Given the description of an element on the screen output the (x, y) to click on. 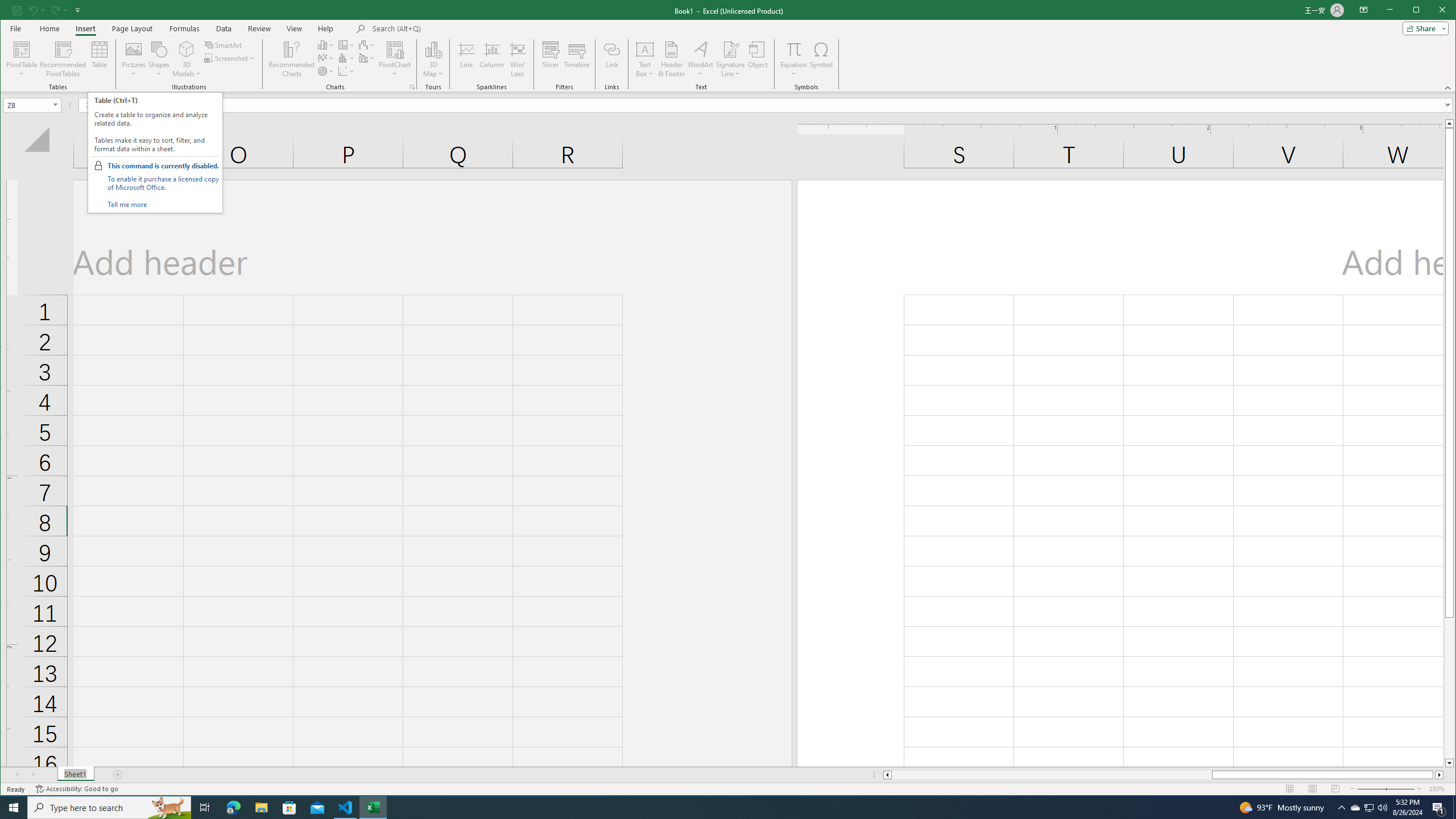
Recommended PivotTables (63, 59)
Equation (793, 48)
Q2790: 100% (1382, 807)
SmartArt... (224, 44)
Table (99, 59)
Class: MsoCommandBar (728, 45)
